Given the description of an element on the screen output the (x, y) to click on. 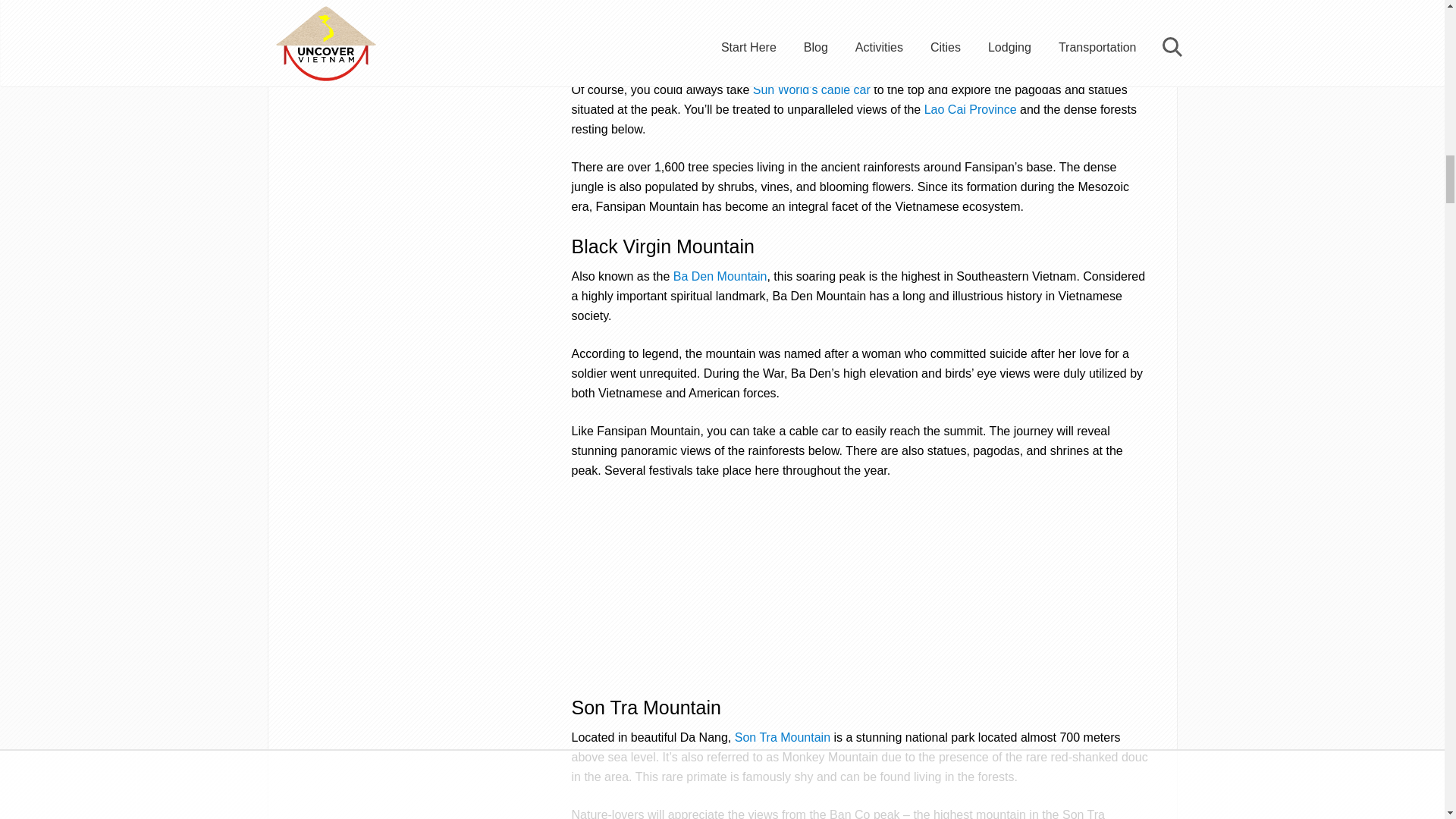
Ba Den Mountain (719, 276)
Fansipan Mountain (950, 31)
rises 3,147 meters above the ground (950, 31)
Lao Cai Province (970, 109)
Son Tra Mountain (782, 737)
